Given the description of an element on the screen output the (x, y) to click on. 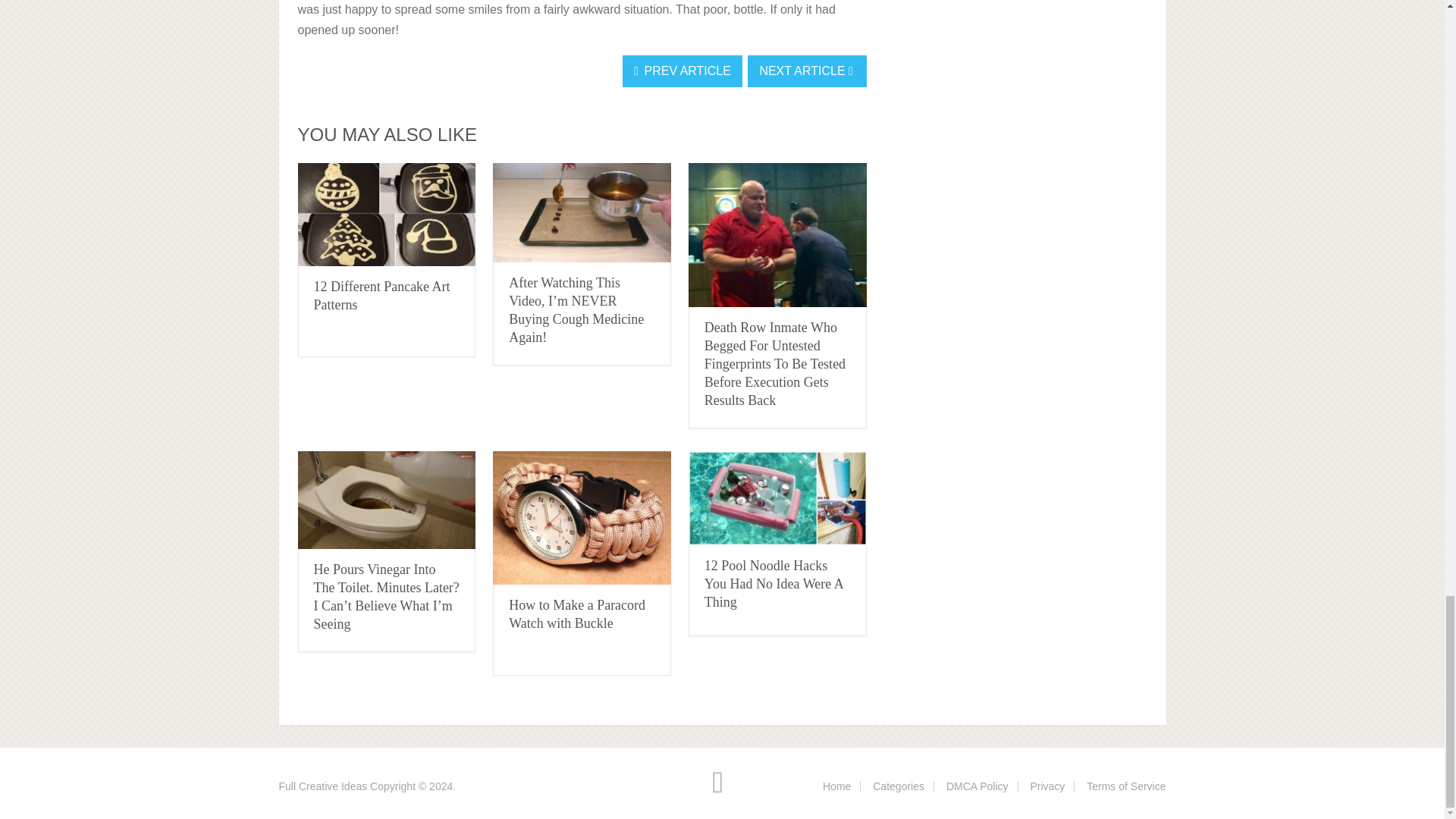
NEXT ARTICLE (807, 70)
PREV ARTICLE (682, 70)
12 Different Pancake Art Patterns (381, 295)
How to Make a Paracord Watch with Buckle (576, 613)
